Given the description of an element on the screen output the (x, y) to click on. 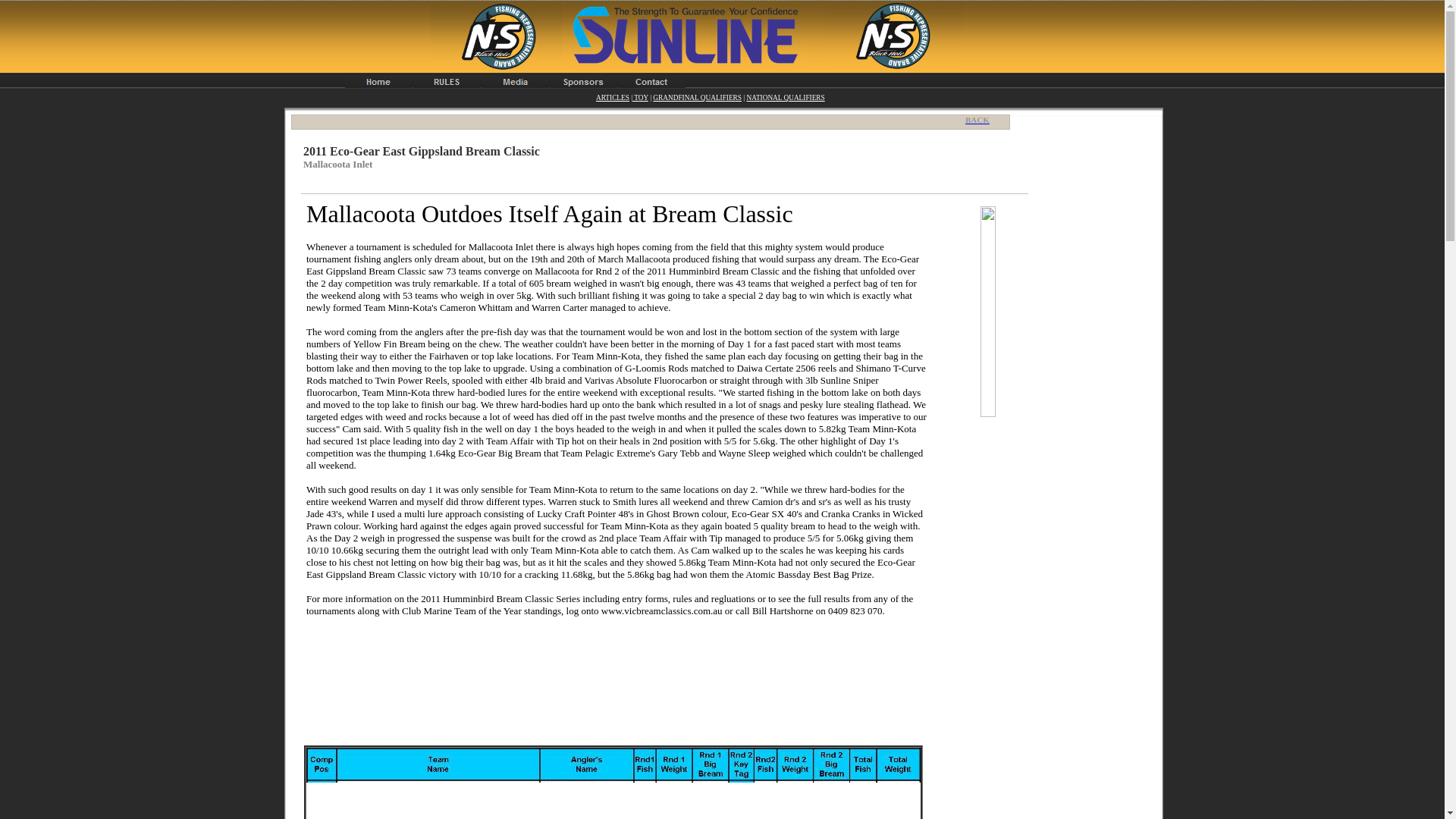
BACK (981, 119)
GRANDFINAL QUALIFIERS (696, 97)
NATIONAL QUALIFIERS (784, 97)
TOY (639, 97)
ARTICLES (611, 97)
